Given the description of an element on the screen output the (x, y) to click on. 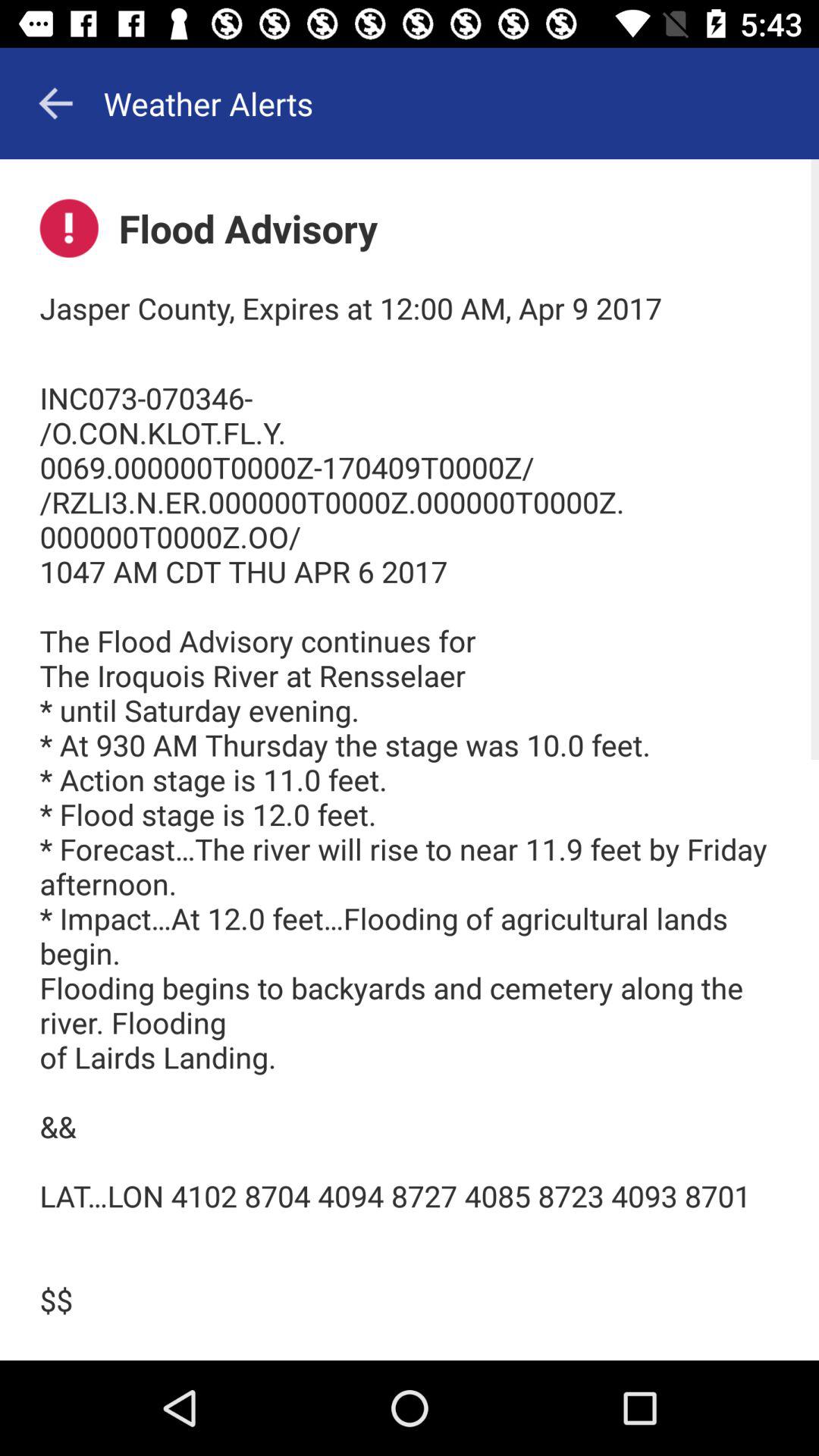
launch icon above the flood advisory item (55, 103)
